Given the description of an element on the screen output the (x, y) to click on. 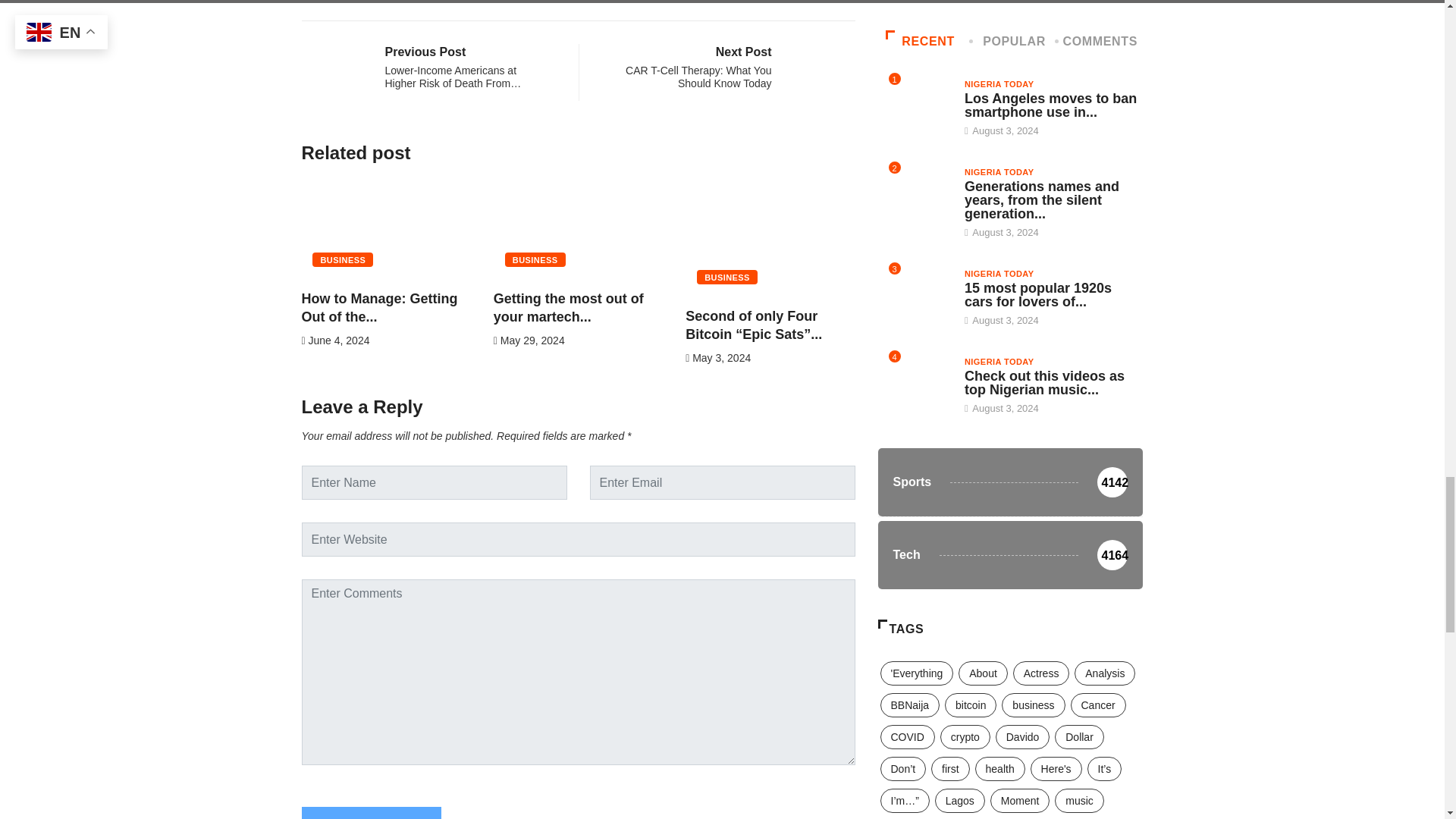
Post Comment (371, 812)
